Given the description of an element on the screen output the (x, y) to click on. 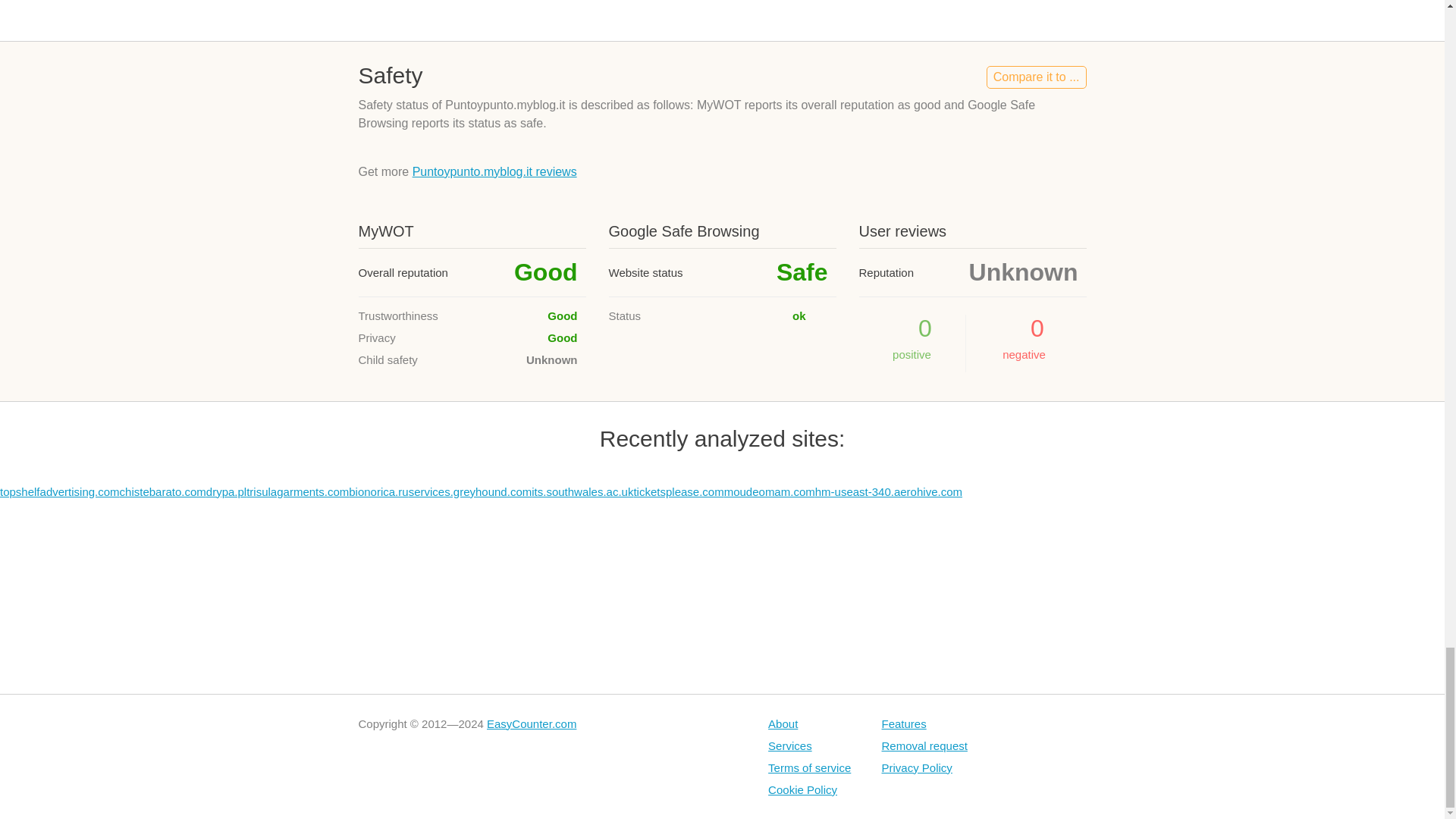
Compare it to ... (1036, 77)
